Given the description of an element on the screen output the (x, y) to click on. 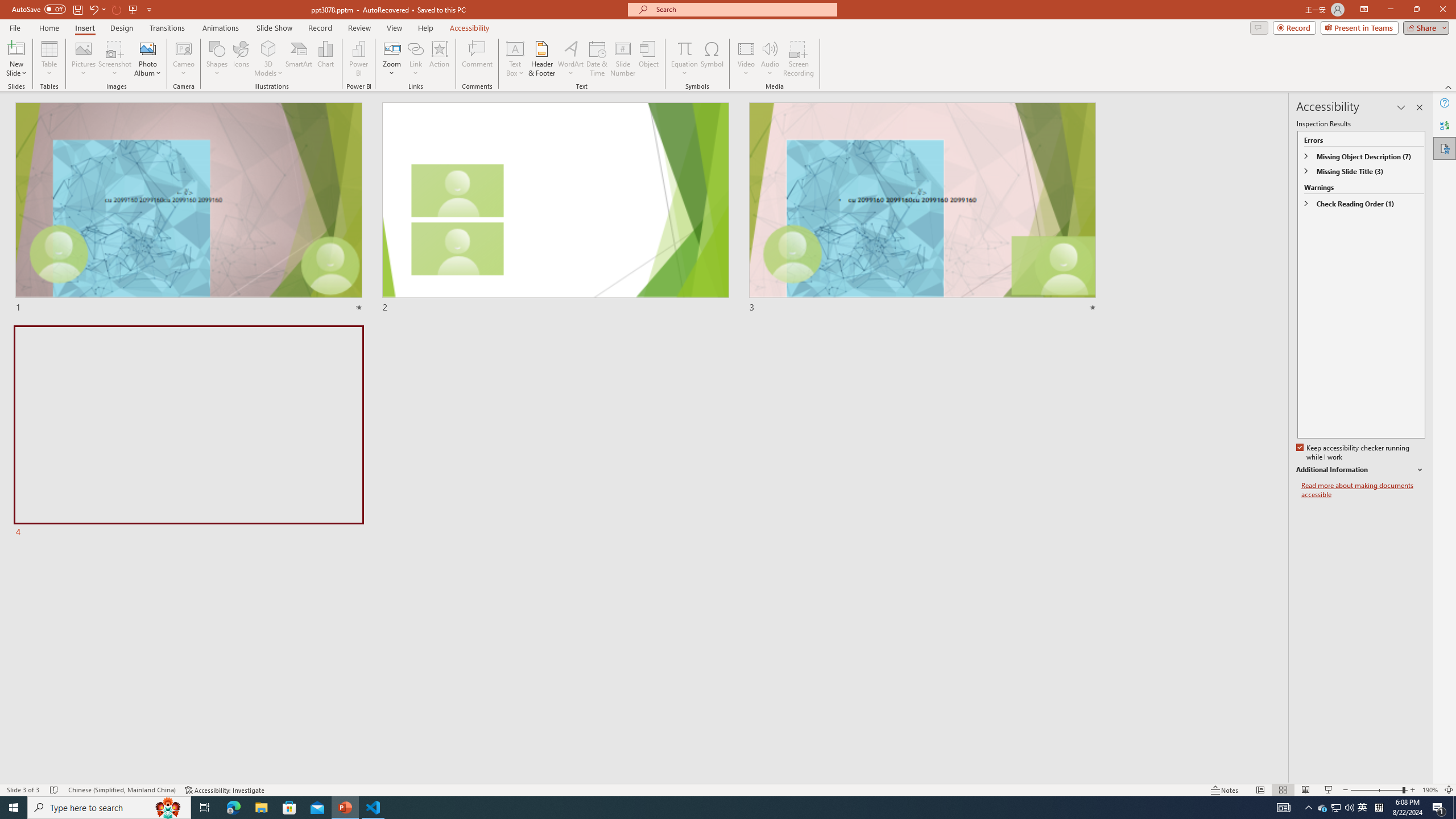
Zoom 190% (1430, 790)
Power BI (358, 58)
